Given the description of an element on the screen output the (x, y) to click on. 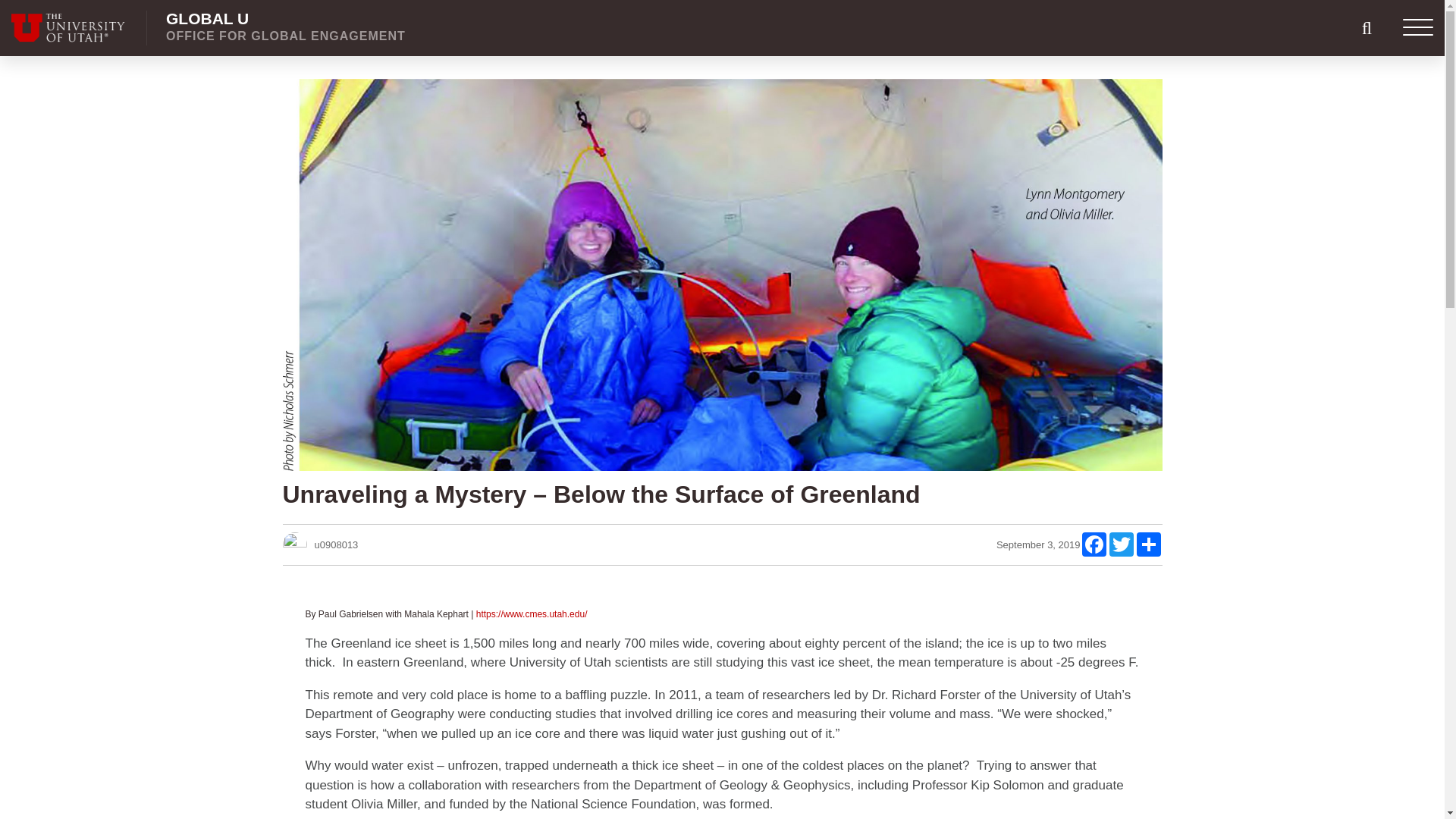
Twitter (285, 26)
Facebook (1121, 544)
Share (1094, 544)
